Given the description of an element on the screen output the (x, y) to click on. 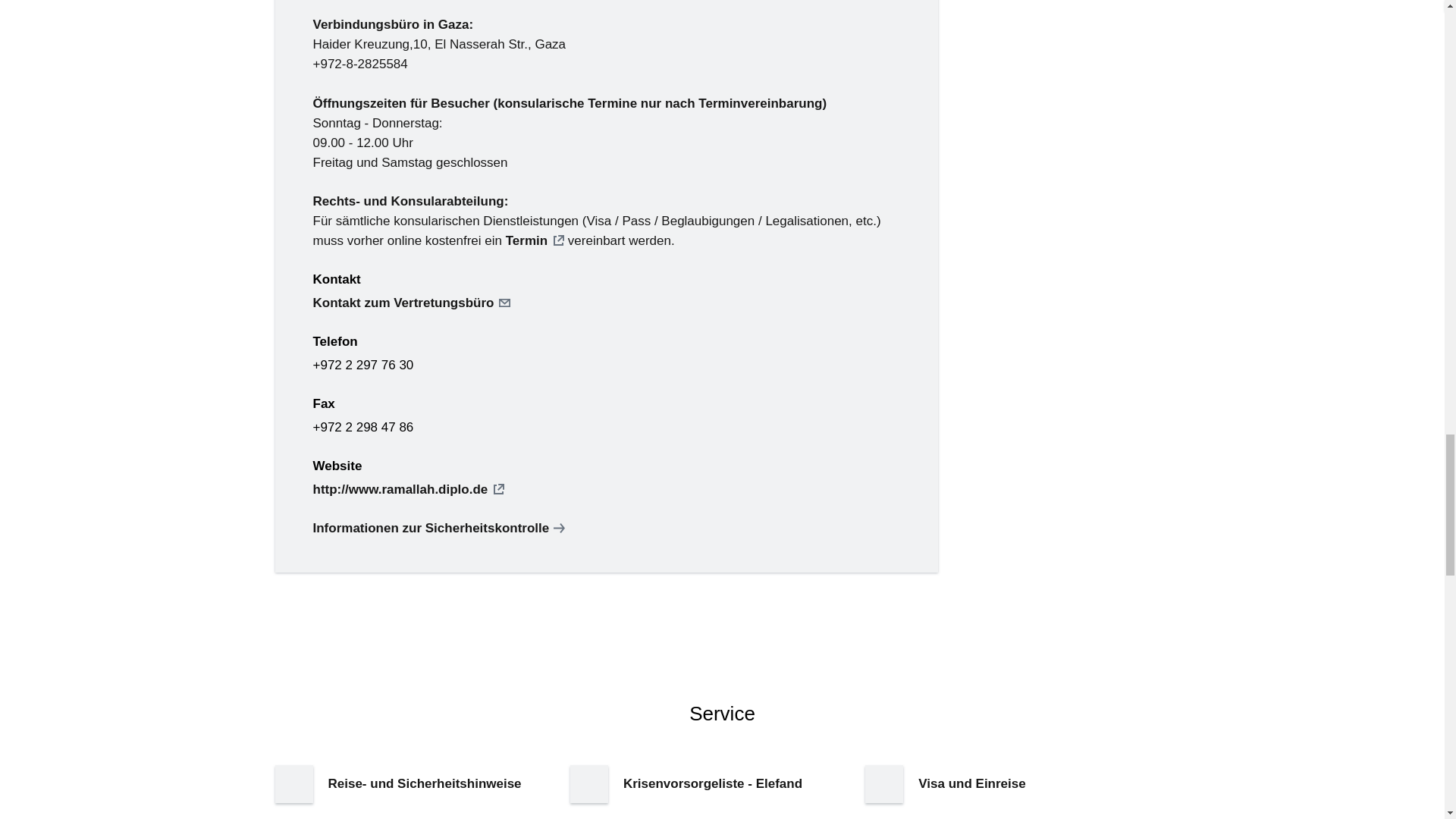
Online-Terminbuchung (534, 240)
